Given the description of an element on the screen output the (x, y) to click on. 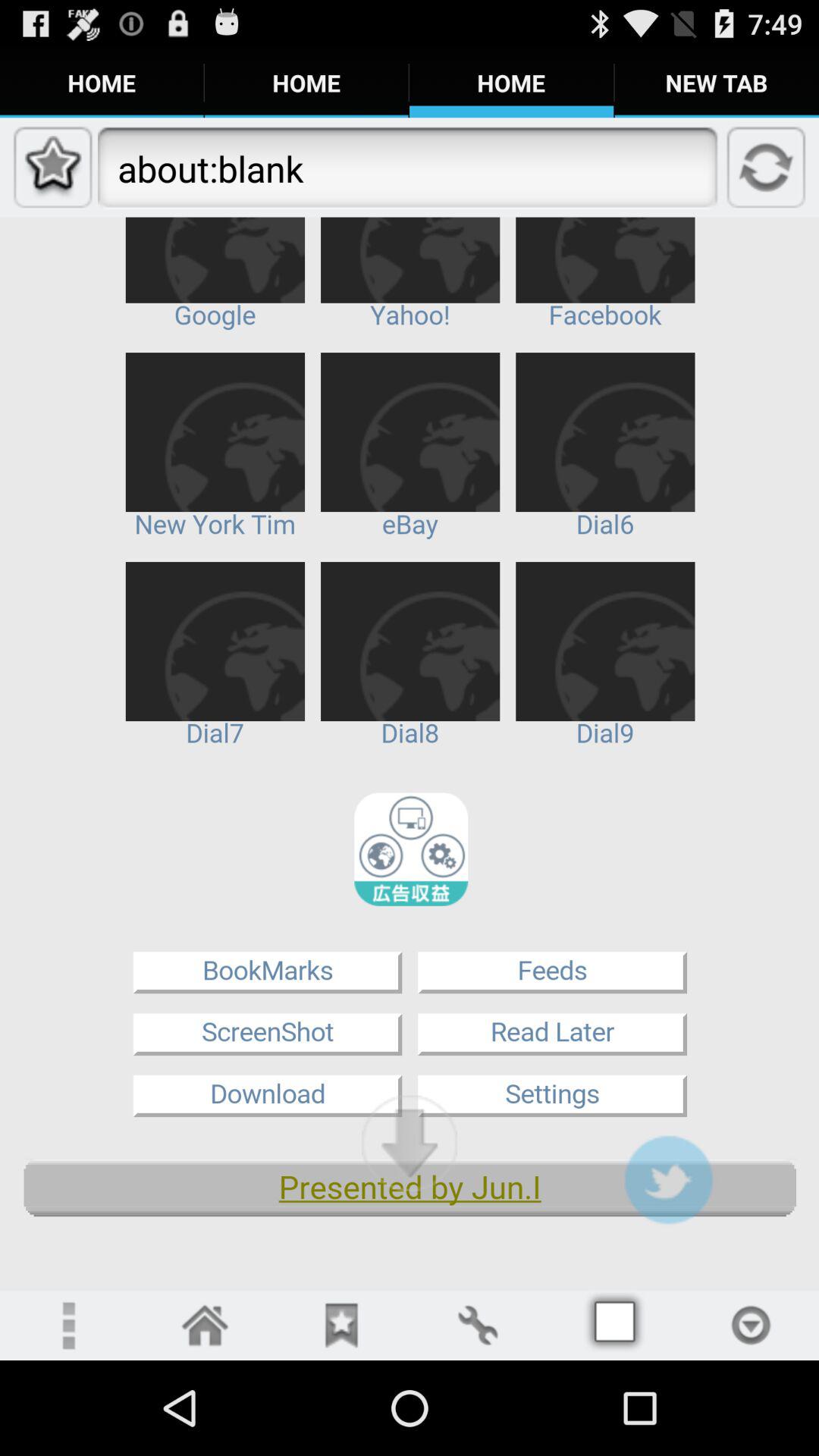
go to location (750, 1325)
